Given the description of an element on the screen output the (x, y) to click on. 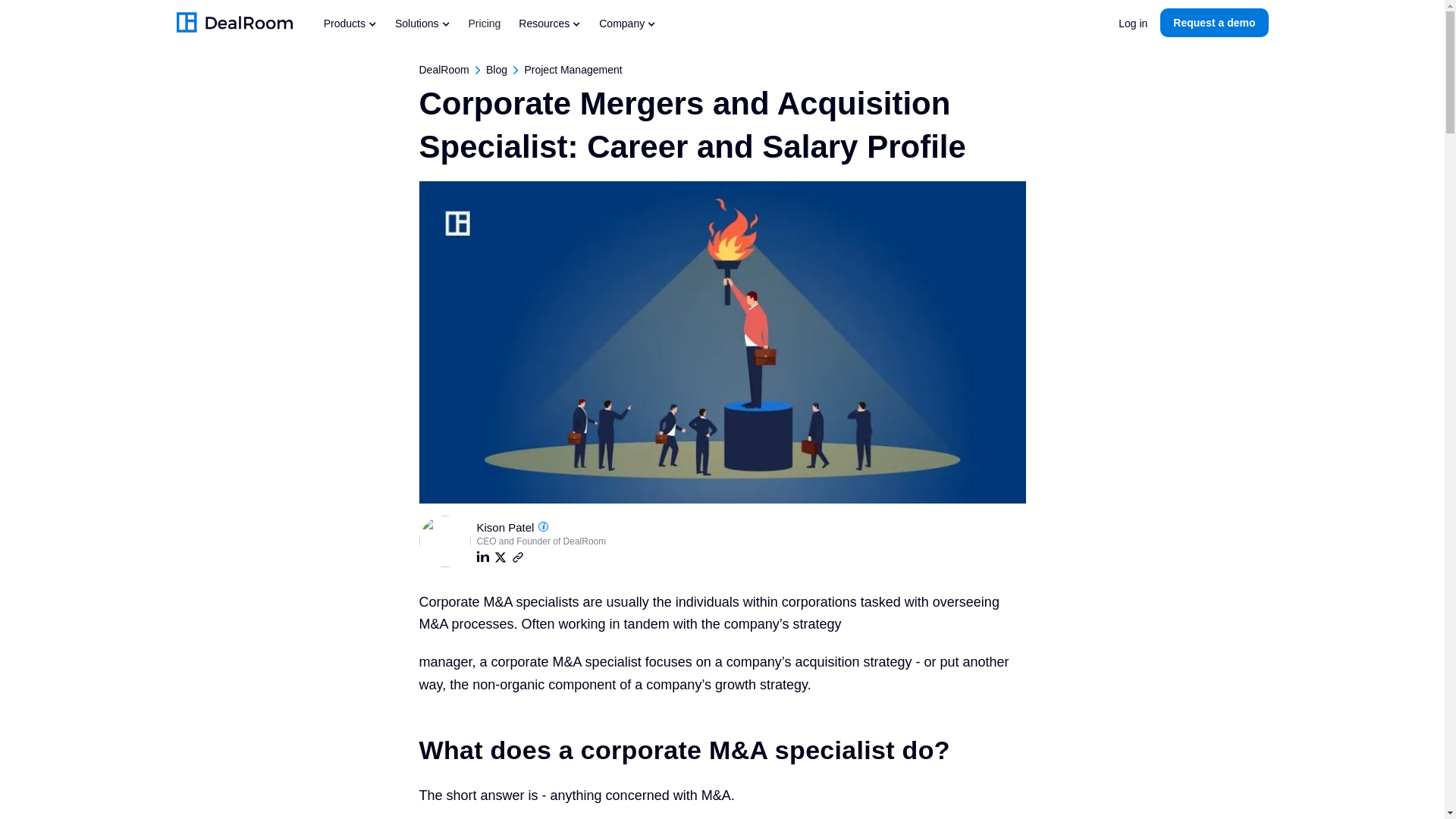
Pricing (485, 22)
